Given the description of an element on the screen output the (x, y) to click on. 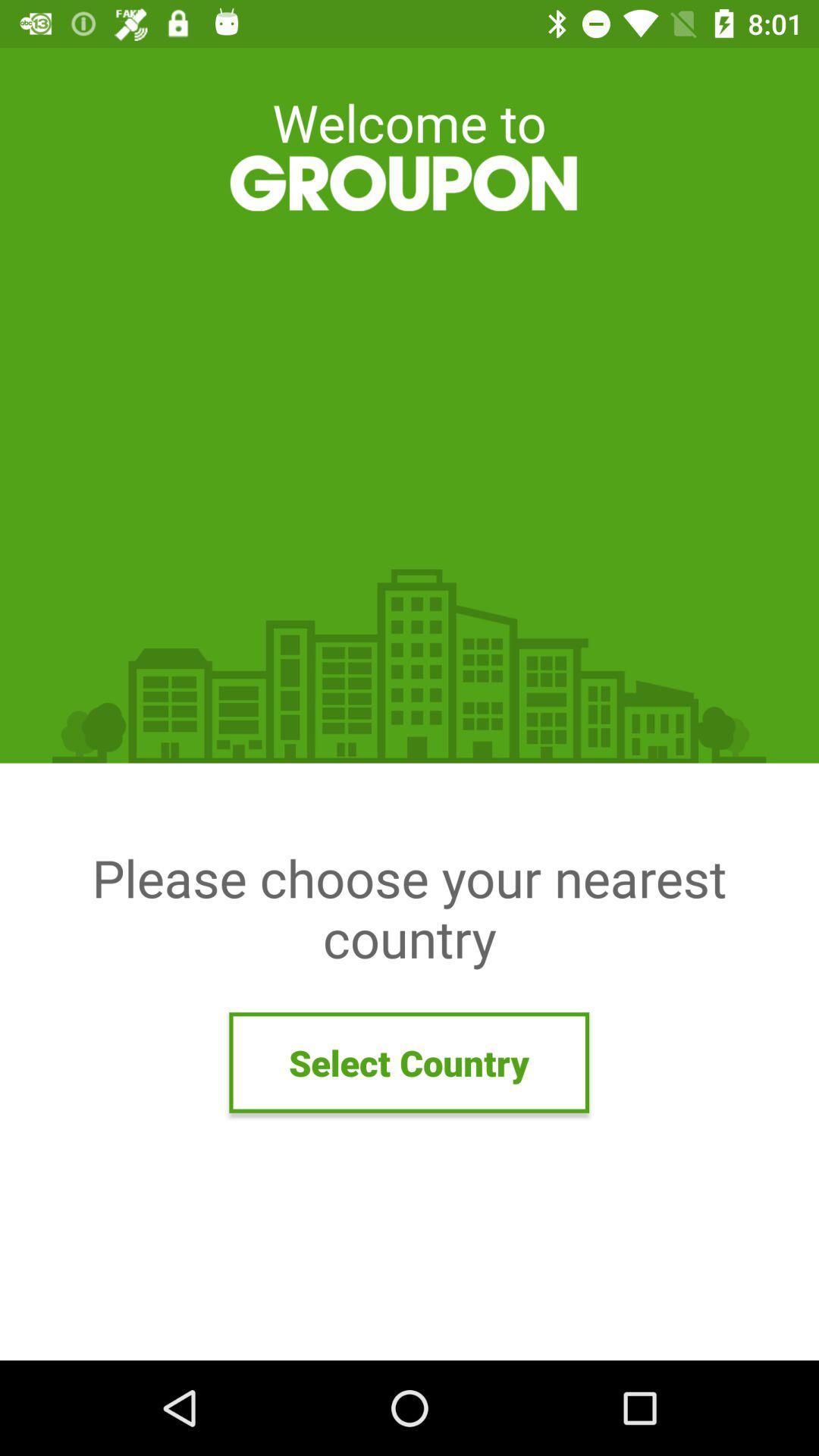
choose icon below please choose your (409, 1062)
